Given the description of an element on the screen output the (x, y) to click on. 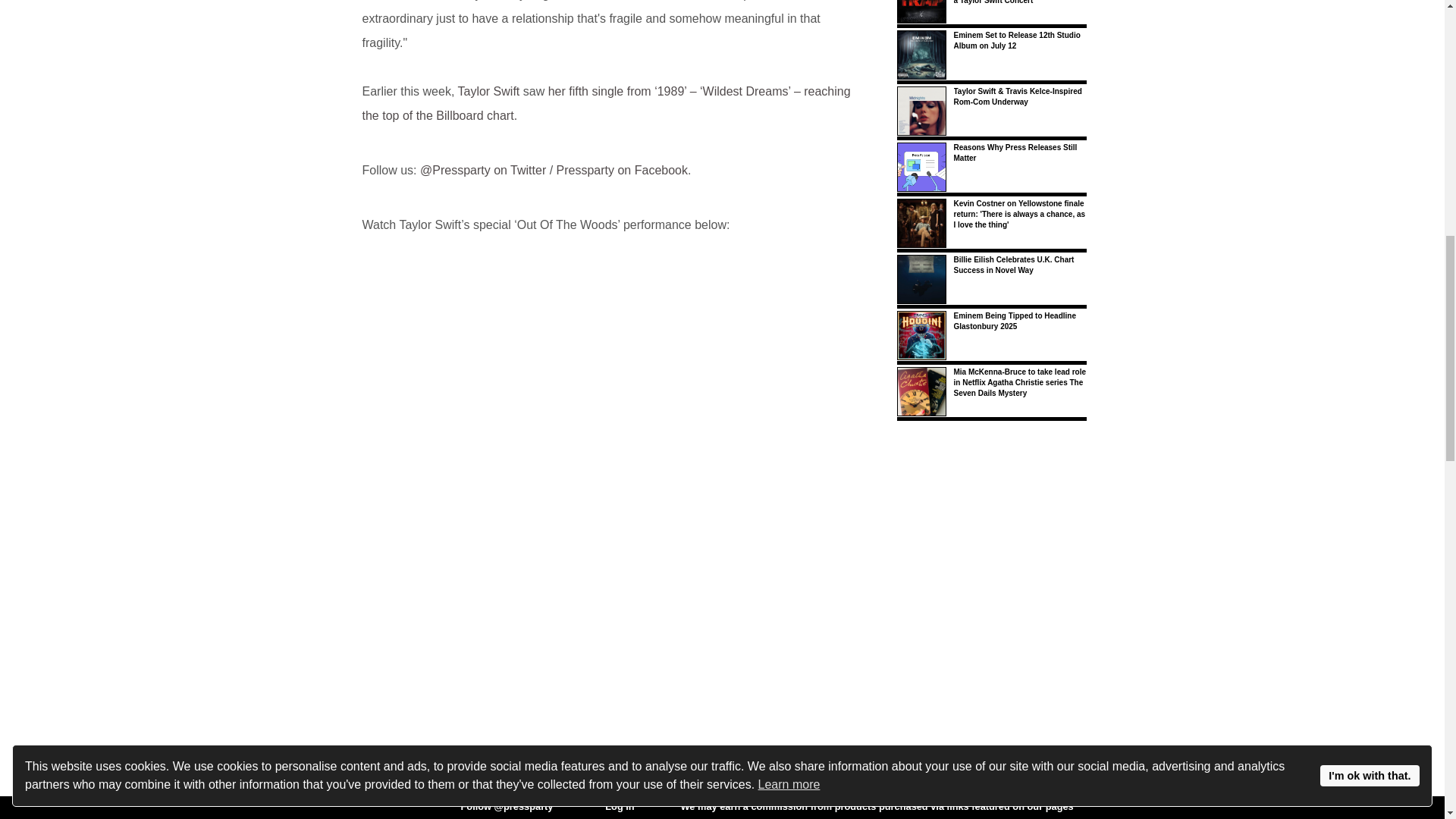
Pressparty on Facebook (621, 169)
Taylor Swift (488, 91)
